Given the description of an element on the screen output the (x, y) to click on. 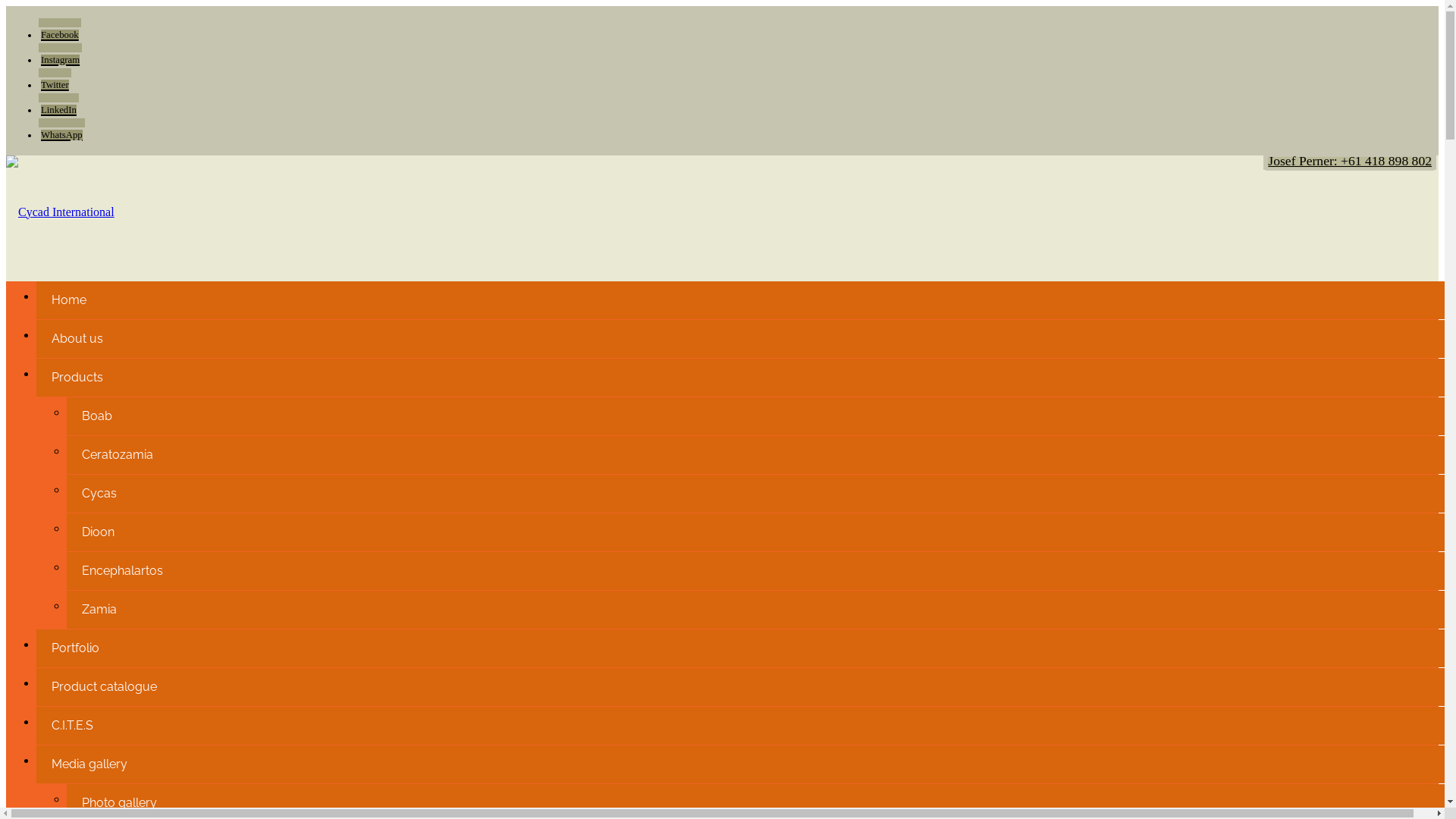
Twitter Element type: text (54, 80)
Josef Perner: +61 418 898 802 Element type: text (1349, 160)
WhatsApp Element type: text (61, 130)
LinkedIn Element type: text (58, 105)
Facebook Element type: text (59, 30)
Instagram Element type: text (59, 55)
